Given the description of an element on the screen output the (x, y) to click on. 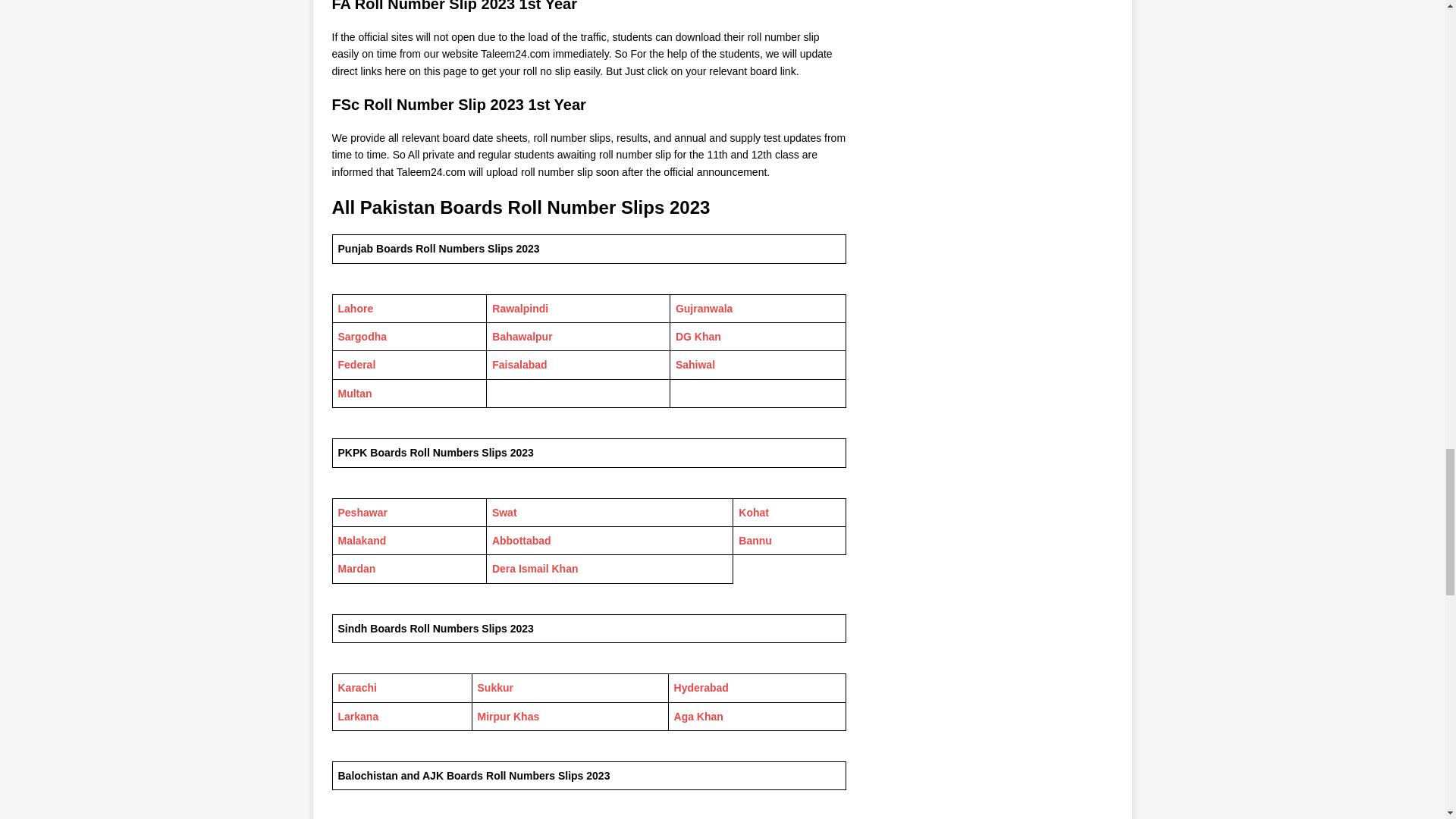
DG Khan (697, 336)
Sahi (686, 364)
Gujranwala (703, 308)
Abbot (507, 540)
Bannu (754, 540)
Bahawalpur (521, 336)
Federal (356, 364)
Rawalpindi (520, 308)
Sargodha (362, 336)
Peshawar (362, 512)
Malakand (362, 540)
Lahore (355, 308)
Kohat (753, 512)
abad (538, 540)
Faisalabad (519, 364)
